Given the description of an element on the screen output the (x, y) to click on. 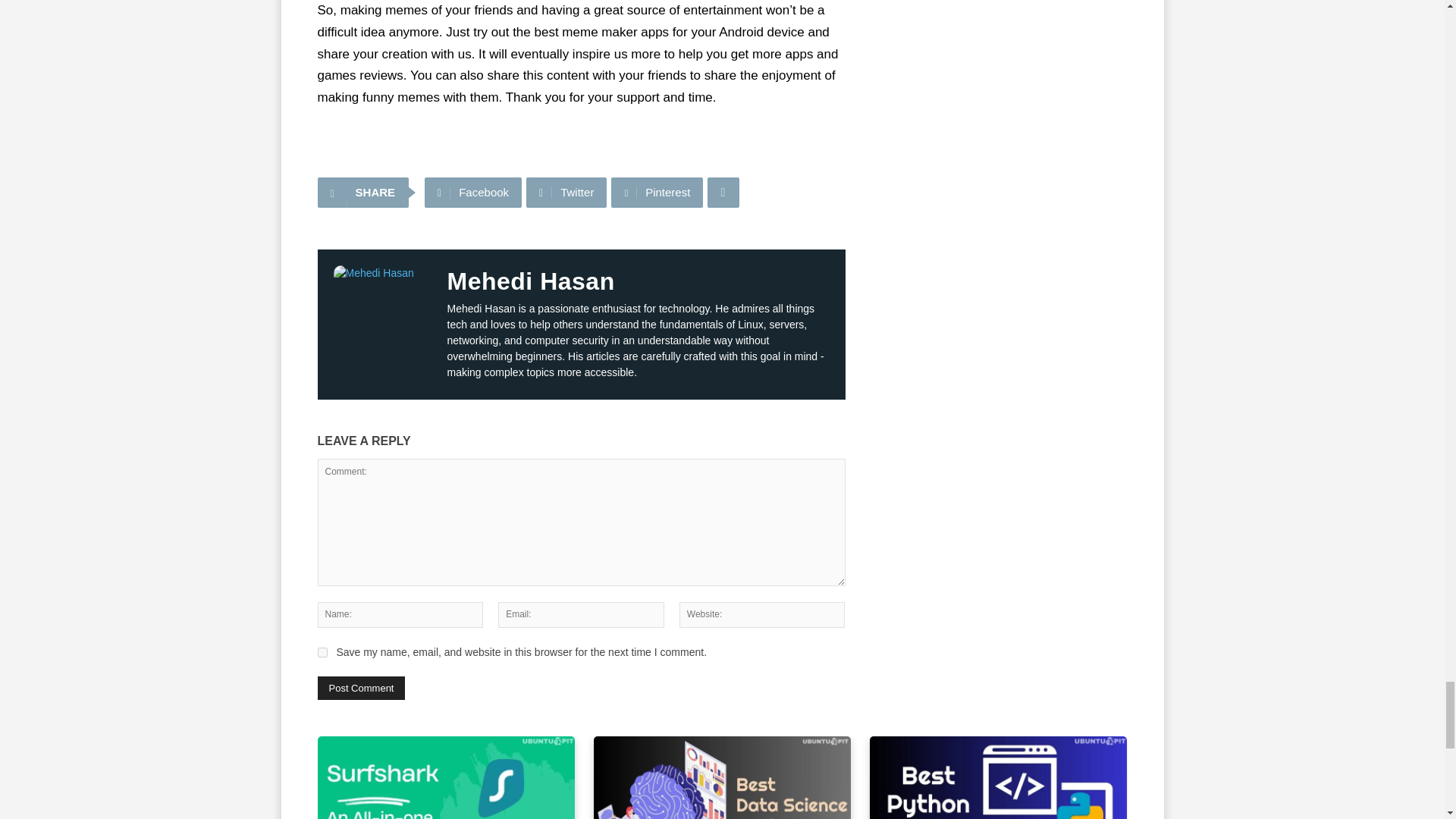
yes (321, 652)
Post Comment (360, 688)
